Given the description of an element on the screen output the (x, y) to click on. 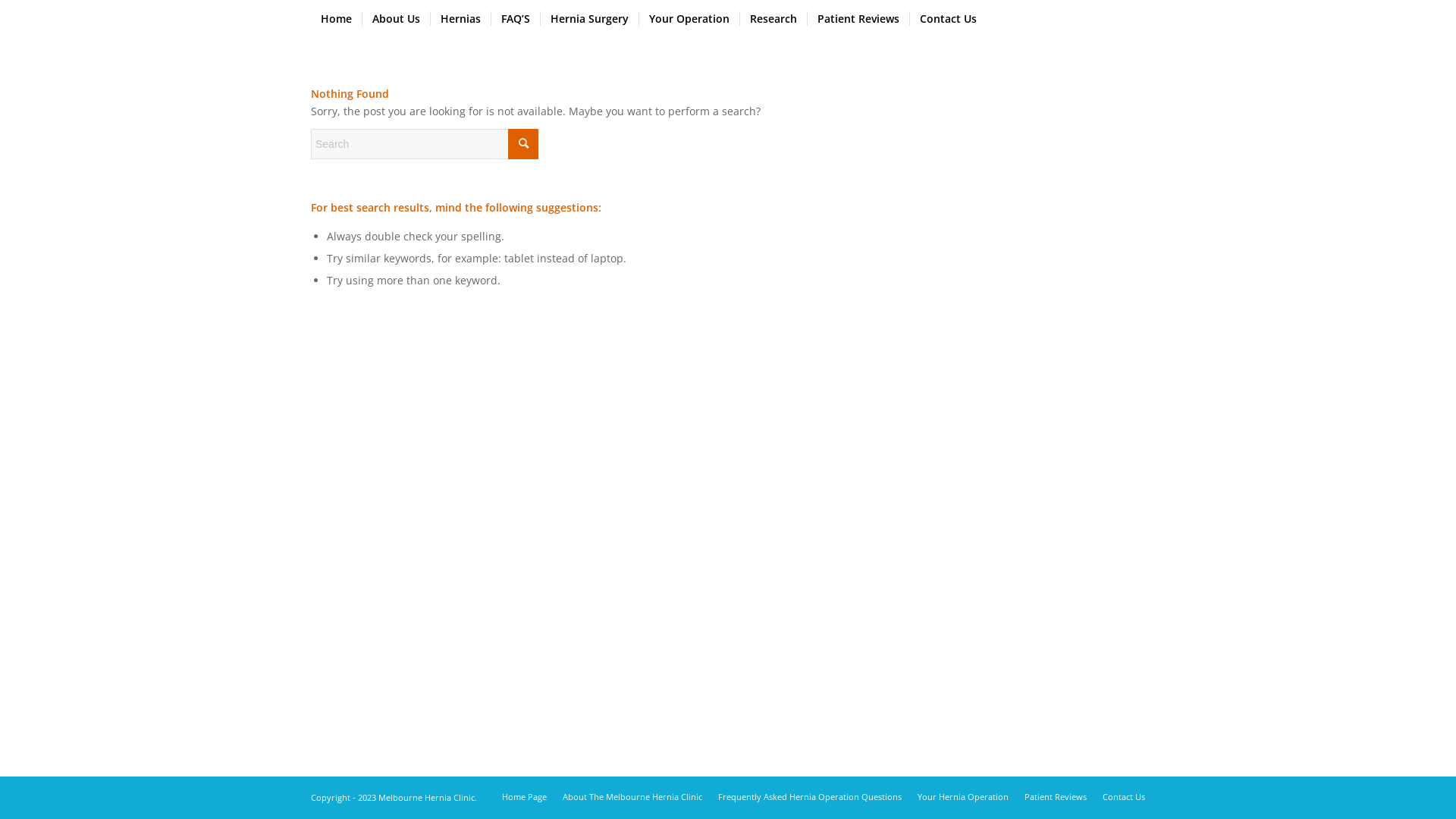
Your Operation Element type: text (688, 18)
Copyright - 2023 Melbourne Hernia Clinic. Element type: text (393, 797)
Hernias Element type: text (459, 18)
Patient Reviews Element type: text (857, 18)
Research Element type: text (772, 18)
About The Melbourne Hernia Clinic Element type: text (632, 796)
Home Page Element type: text (524, 796)
About Us Element type: text (395, 18)
Contact Us Element type: text (1123, 796)
Frequently Asked Hernia Operation Questions Element type: text (809, 796)
Hernia Surgery Element type: text (588, 18)
Your Hernia Operation Element type: text (962, 796)
Contact Us Element type: text (947, 18)
Home Element type: text (335, 18)
Patient Reviews Element type: text (1055, 796)
